Given the description of an element on the screen output the (x, y) to click on. 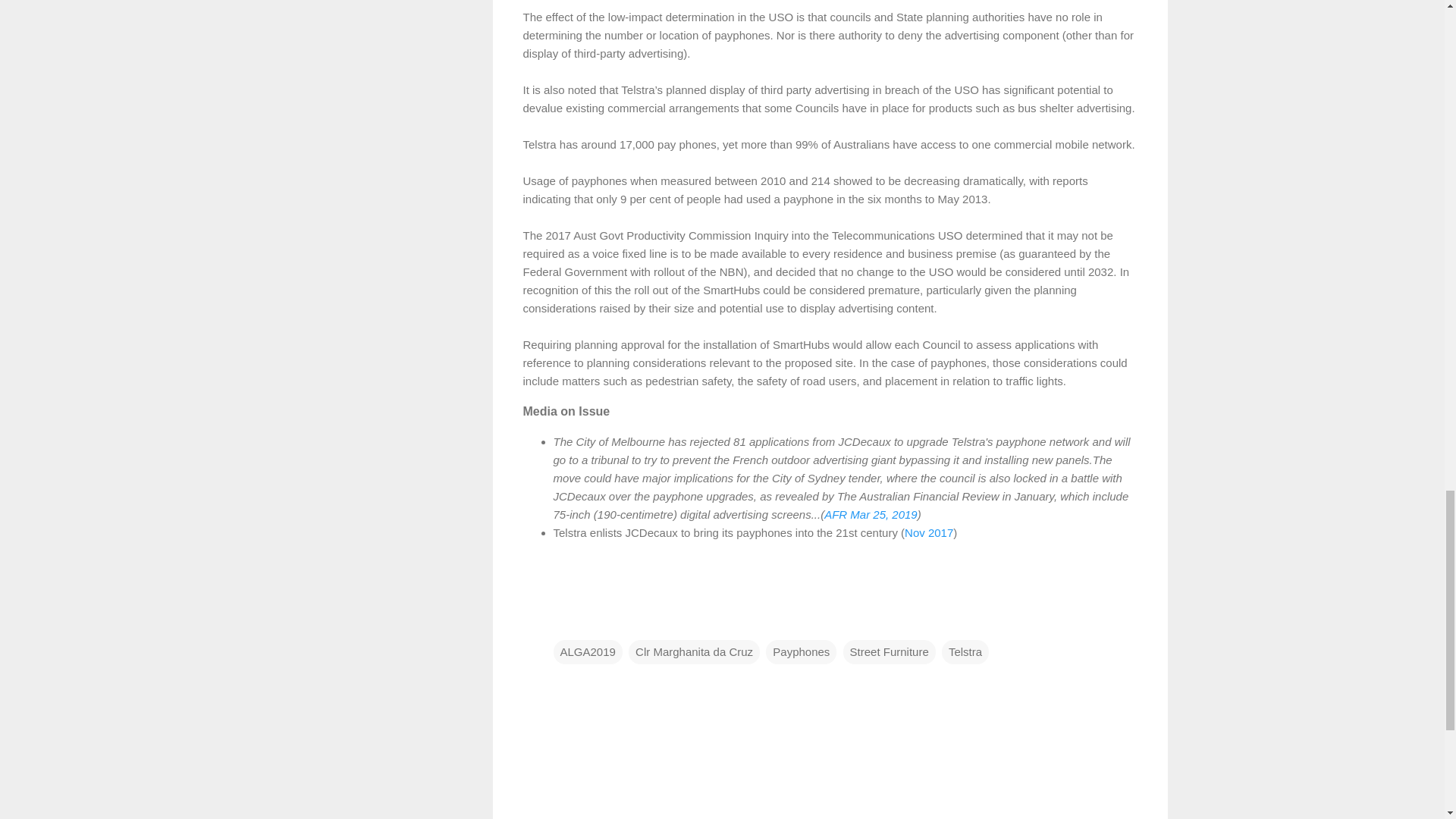
Clr Marghanita da Cruz (694, 651)
AFR (837, 513)
Mar 25, 2019 (883, 513)
Nov 2017 (928, 532)
Street Furniture (889, 651)
ALGA2019 (588, 651)
Payphones (800, 651)
Telstra (965, 651)
